Given the description of an element on the screen output the (x, y) to click on. 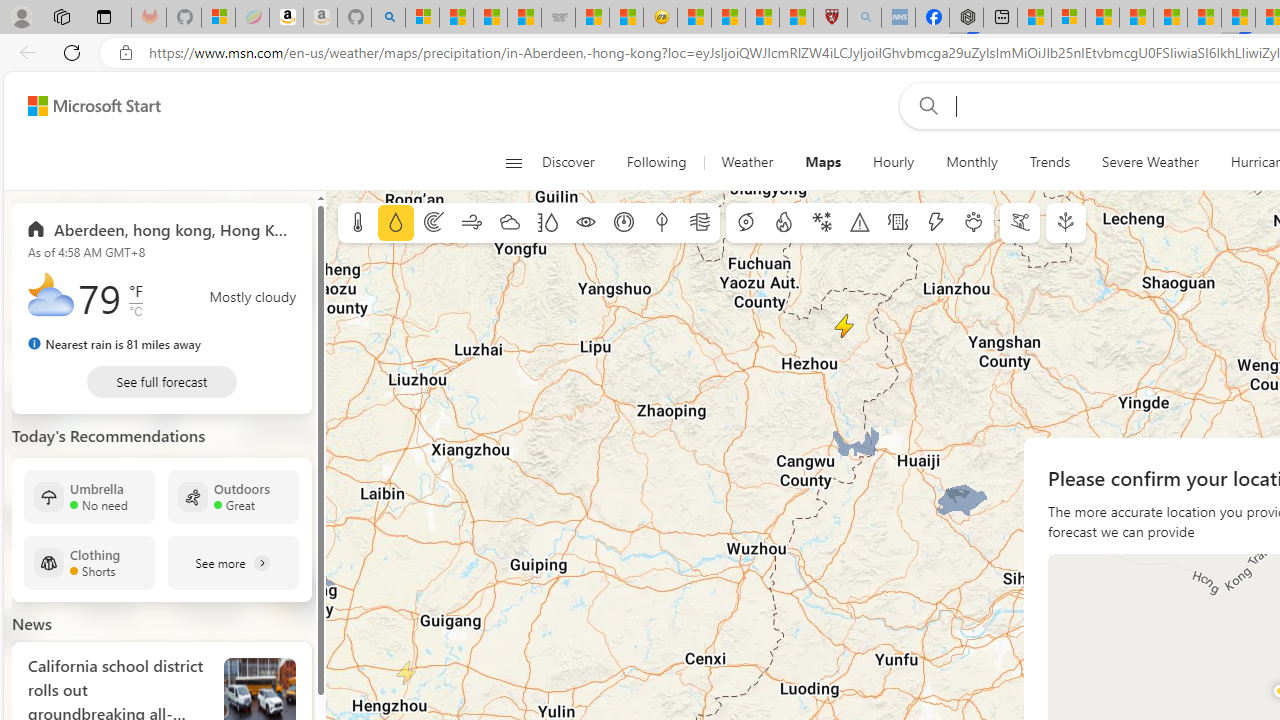
Monthly (971, 162)
Trends (1049, 162)
Fire information (783, 223)
Aberdeen, hong kong, Hong Kong SAR (161, 228)
Combat Siege (557, 17)
Clothing Shorts (89, 562)
Precipitation (395, 223)
Weather (747, 162)
14 Common Myths Debunked By Scientific Facts (1170, 17)
Following (656, 162)
Web search (924, 105)
Severe Weather (1150, 162)
